Given the description of an element on the screen output the (x, y) to click on. 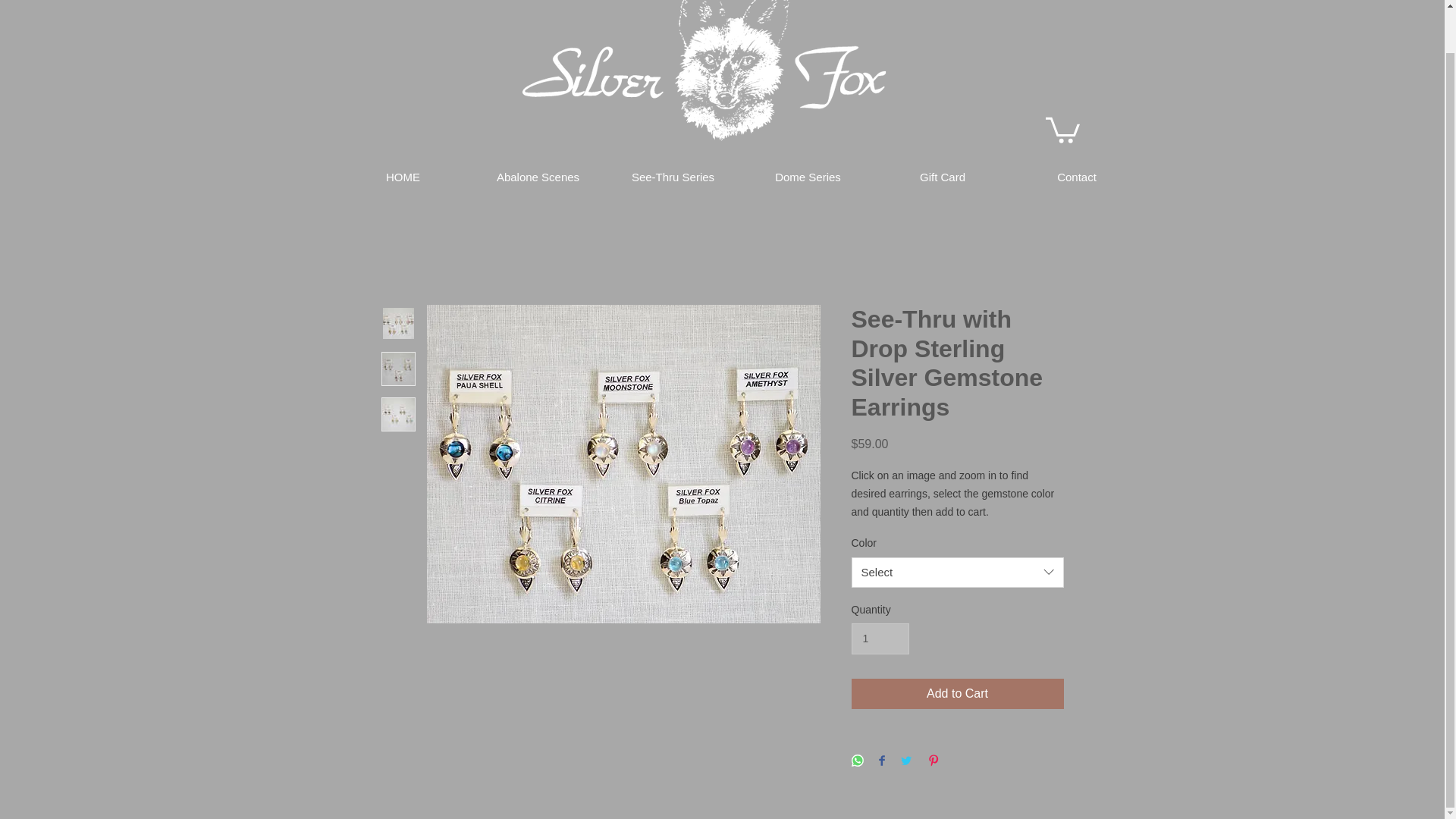
See-Thru Series (672, 176)
Contact (1077, 176)
1 (879, 638)
HOME (402, 176)
Dome Series (807, 176)
Select (956, 572)
Add to Cart (956, 693)
Abalone Scenes (537, 176)
Gift Card (942, 176)
